Given the description of an element on the screen output the (x, y) to click on. 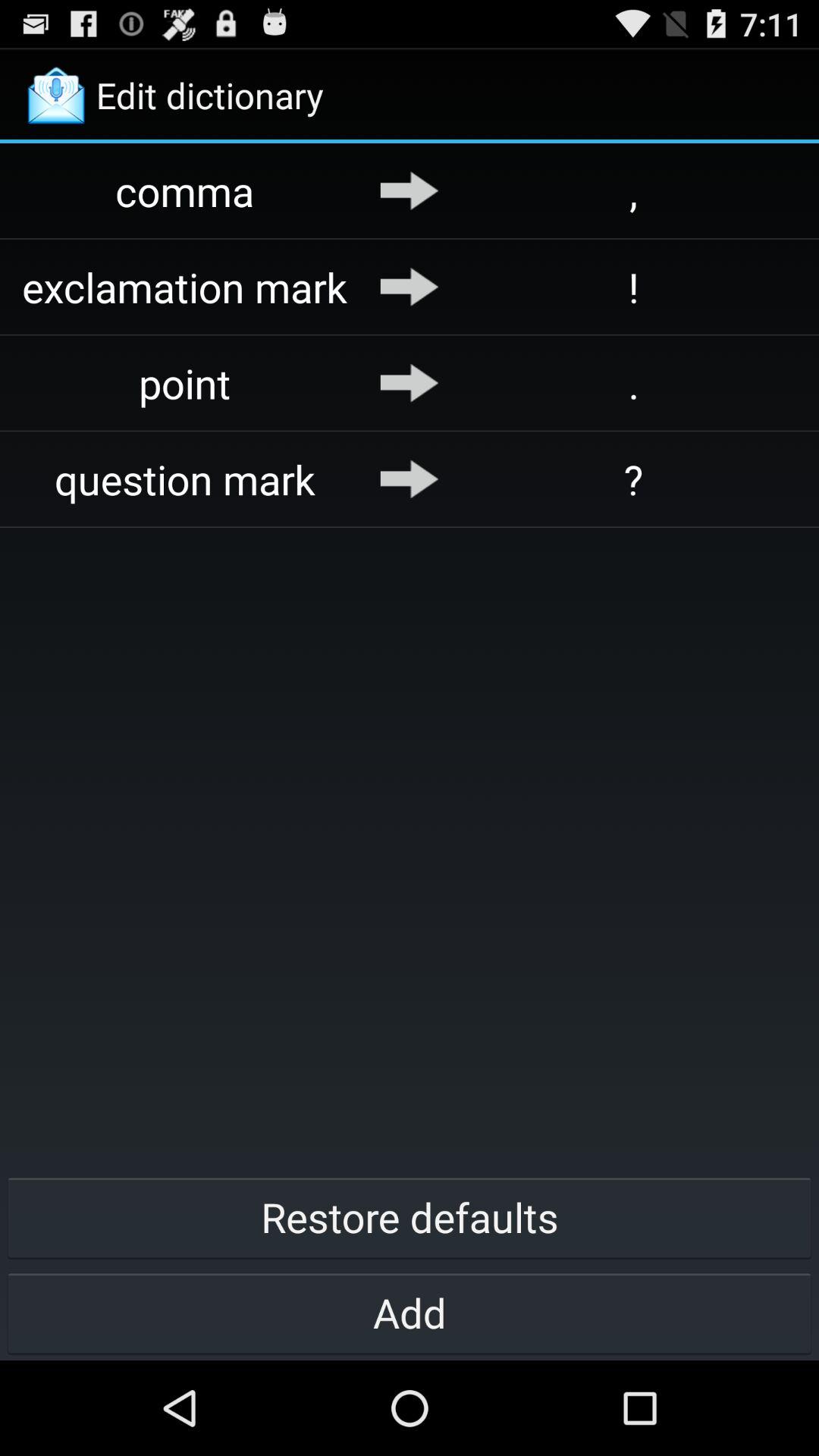
jump until comma item (185, 190)
